Given the description of an element on the screen output the (x, y) to click on. 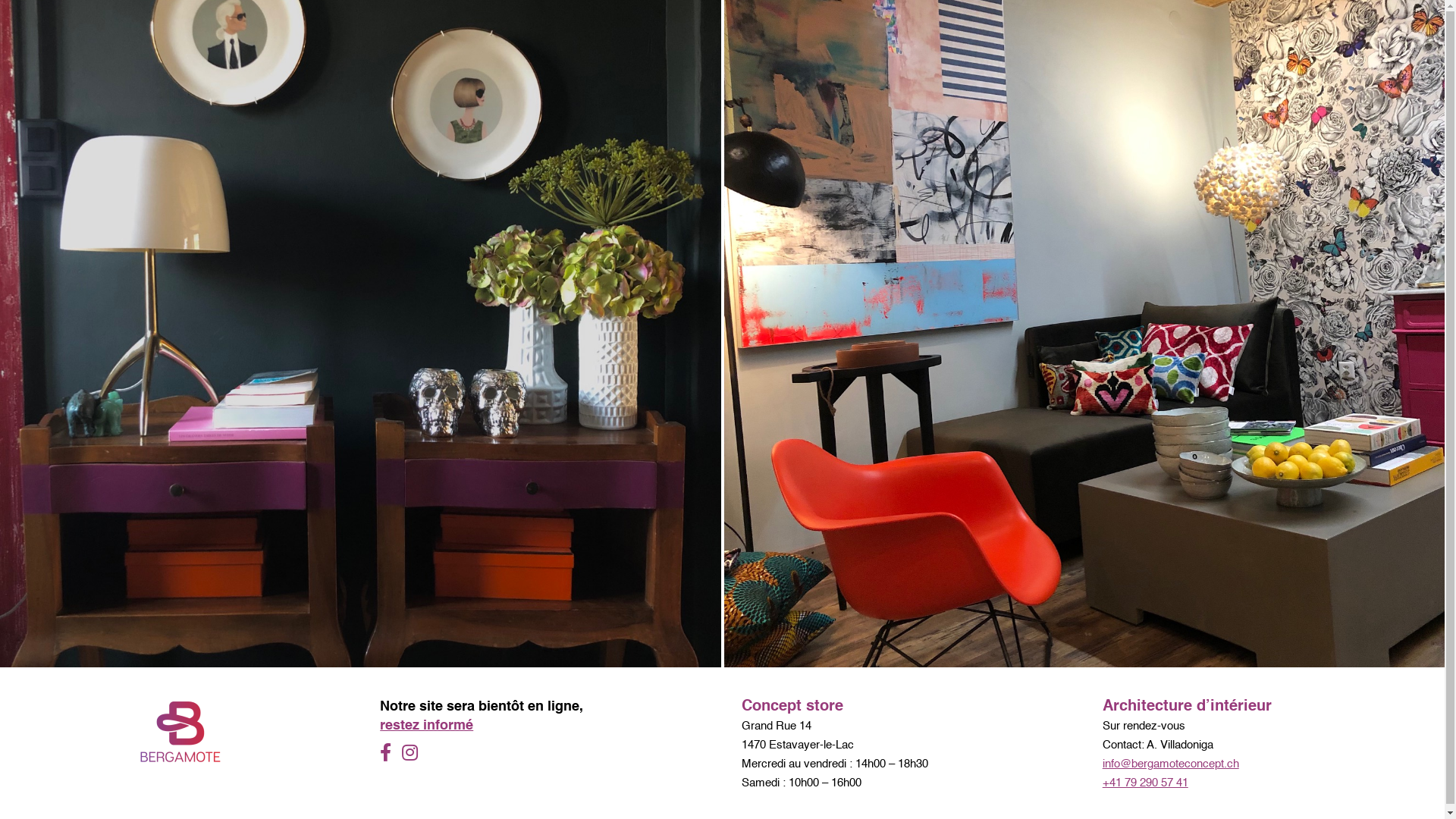
+41 79 290 57 41 Element type: text (1145, 782)
logo Bergamote Concept Element type: hover (180, 731)
info@bergamoteconcept.ch Element type: text (1170, 763)
